Given the description of an element on the screen output the (x, y) to click on. 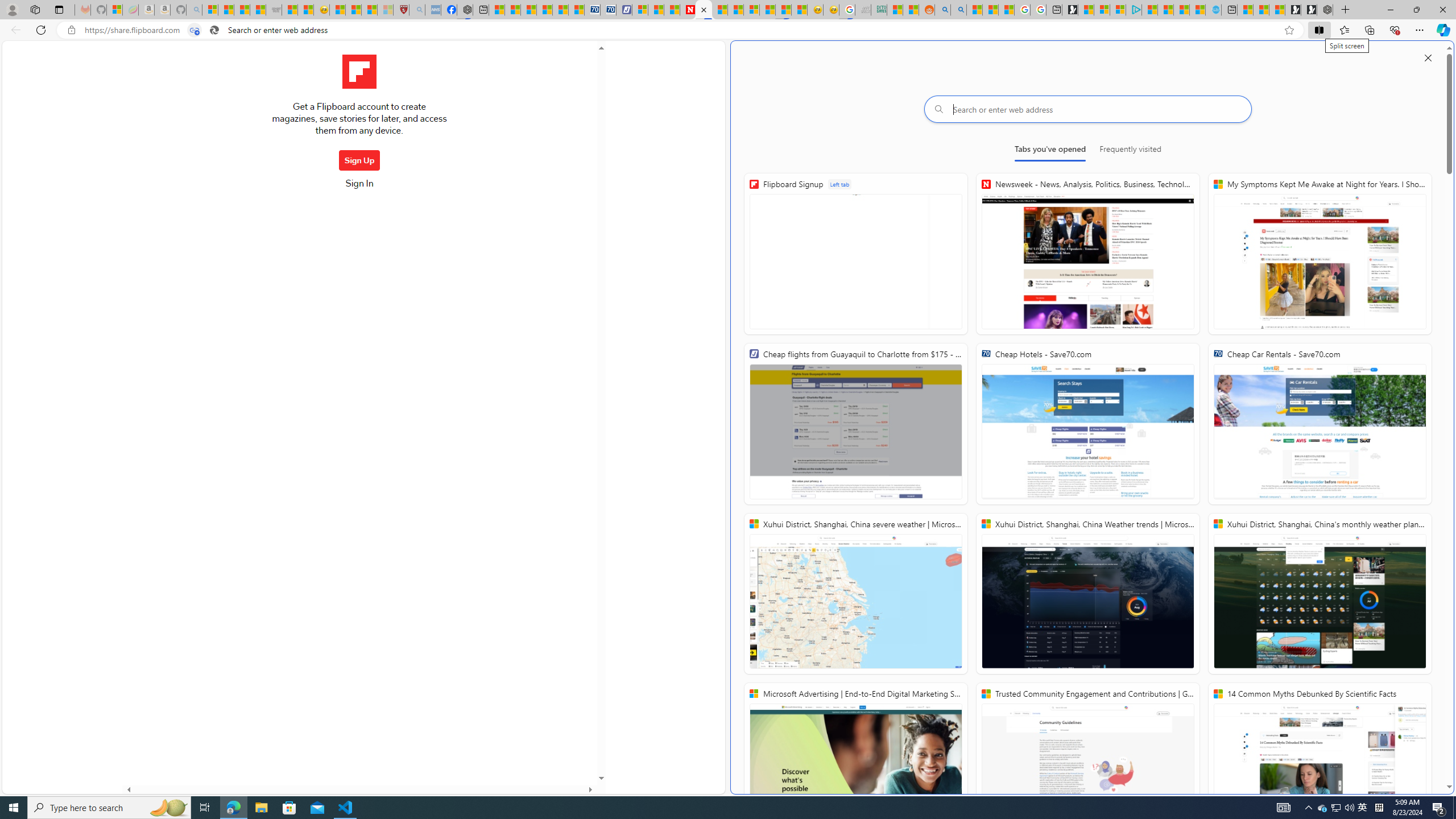
Sign Up (359, 159)
DITOGAMES AG Imprint (878, 9)
Utah sues federal government - Search (958, 9)
Tabs you've opened (1049, 151)
Close split screen (1428, 57)
